Given the description of an element on the screen output the (x, y) to click on. 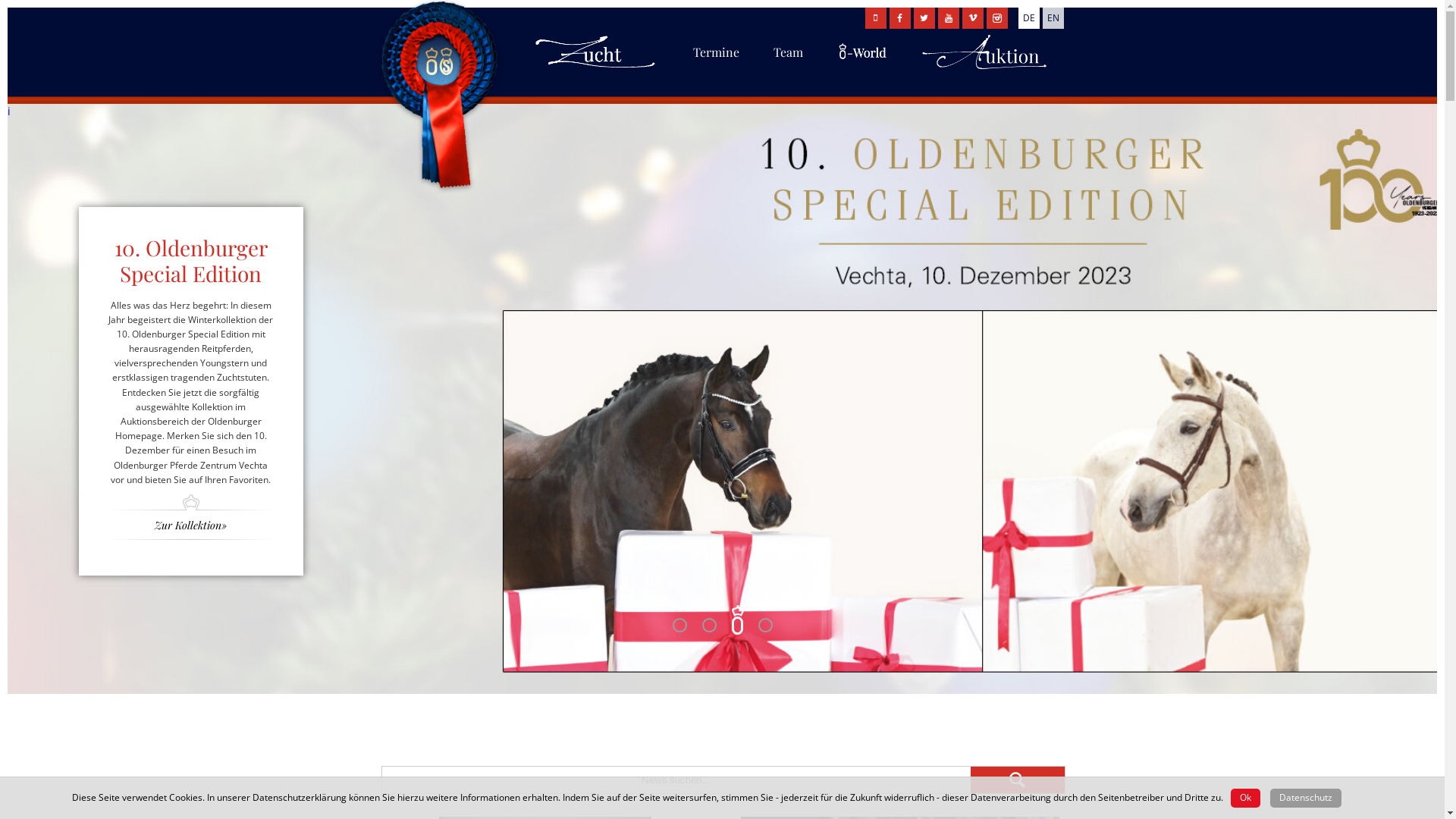
EN Element type: text (1052, 17)
Termine Element type: text (716, 61)
O-World Element type: hover (862, 74)
Ok Element type: text (1245, 797)
Zucht Element type: hover (596, 74)
1 Element type: text (678, 625)
2 Element type: text (707, 625)
DE Element type: text (1027, 17)
4 Element type: text (765, 625)
3 Element type: text (735, 625)
Team Element type: text (788, 61)
i Element type: text (8, 110)
Auktion Element type: hover (984, 74)
Datenschutz Element type: text (1305, 797)
